Given the description of an element on the screen output the (x, y) to click on. 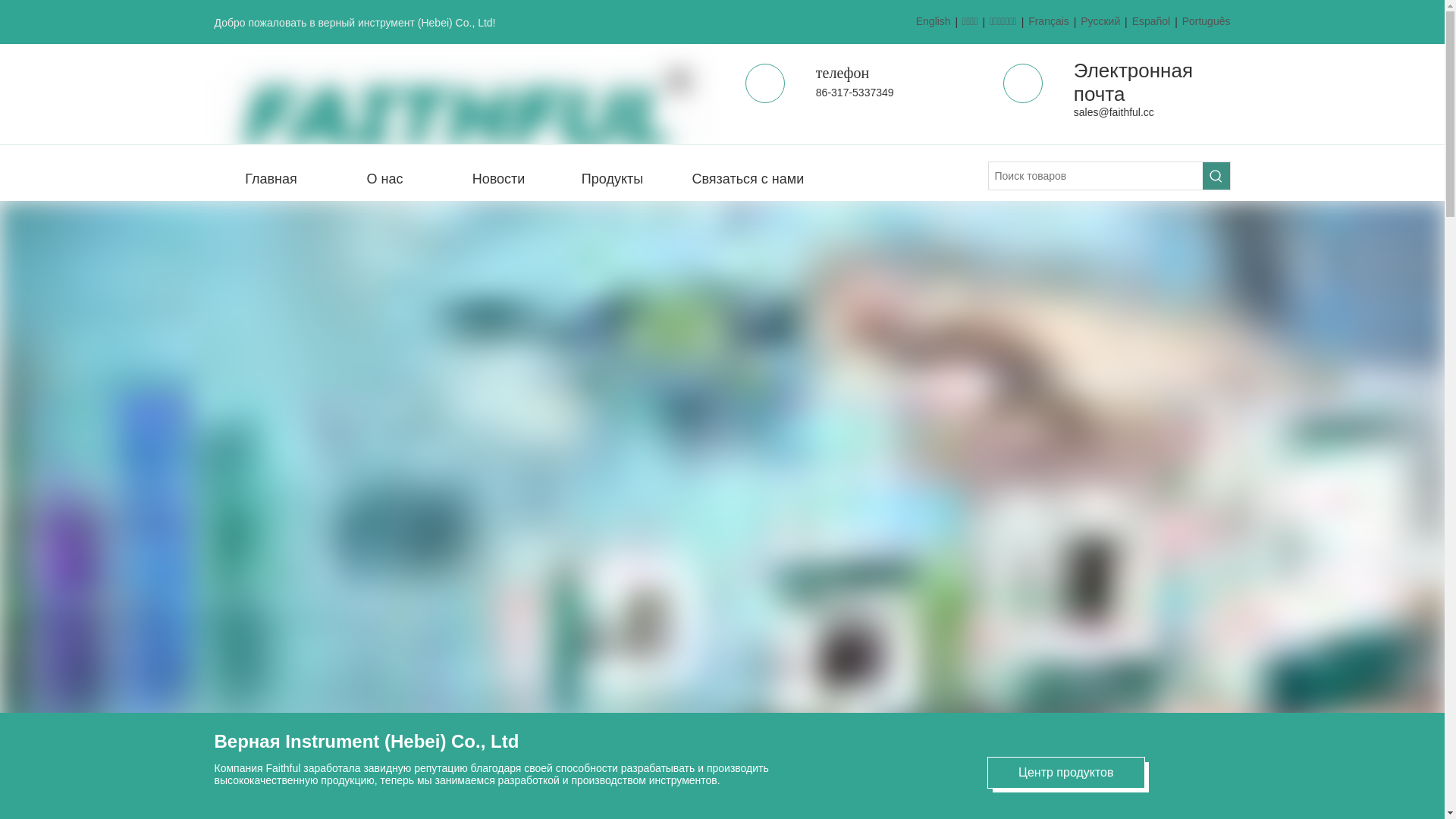
English Element type: text (933, 21)
sales@faithful.cc Element type: text (1113, 112)
